Given the description of an element on the screen output the (x, y) to click on. 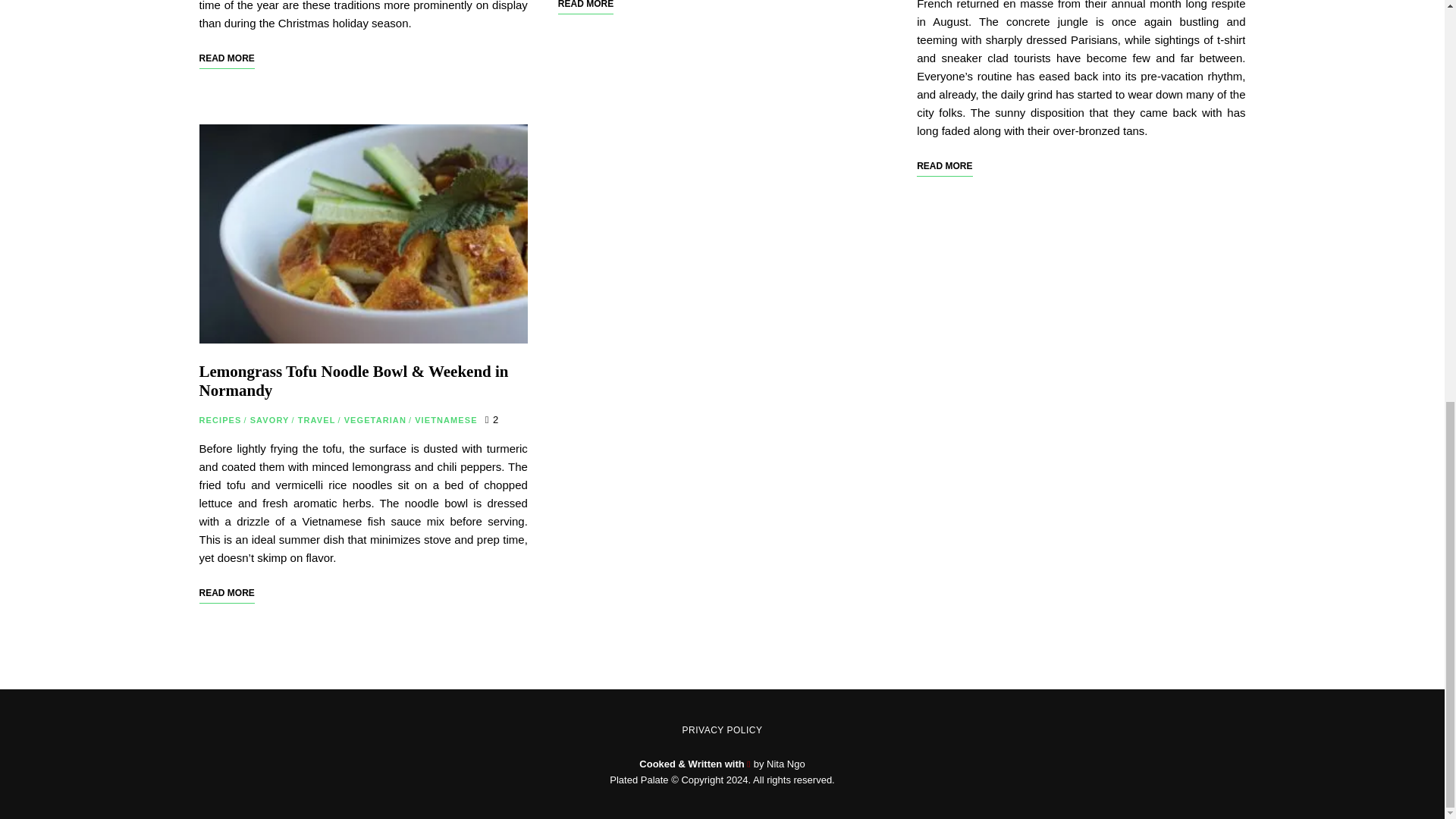
2 (491, 419)
VIETNAMESE (445, 420)
VEGETARIAN (374, 420)
READ MORE (225, 57)
TRAVEL (317, 420)
RECIPES (219, 420)
READ MORE (225, 592)
SAVORY (269, 420)
